Given the description of an element on the screen output the (x, y) to click on. 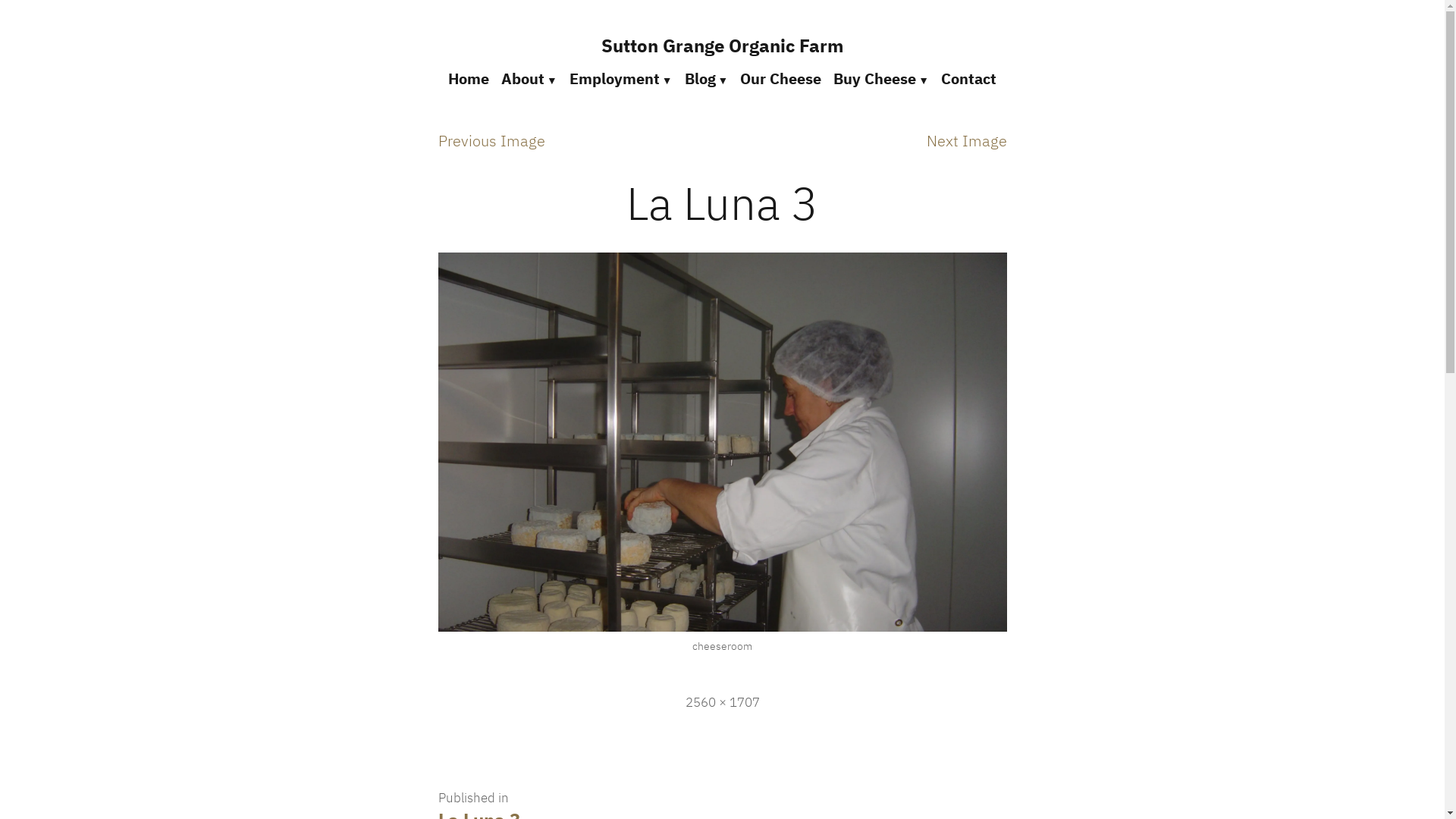
Blog Element type: text (705, 79)
Next Image Element type: text (966, 140)
Employment Element type: text (620, 79)
Previous Image Element type: text (491, 140)
About Element type: text (529, 79)
Contact Element type: text (965, 79)
Sutton Grange Organic Farm Element type: text (722, 45)
Our Cheese Element type: text (780, 79)
Buy Cheese Element type: text (881, 79)
Home Element type: text (471, 79)
